Given the description of an element on the screen output the (x, y) to click on. 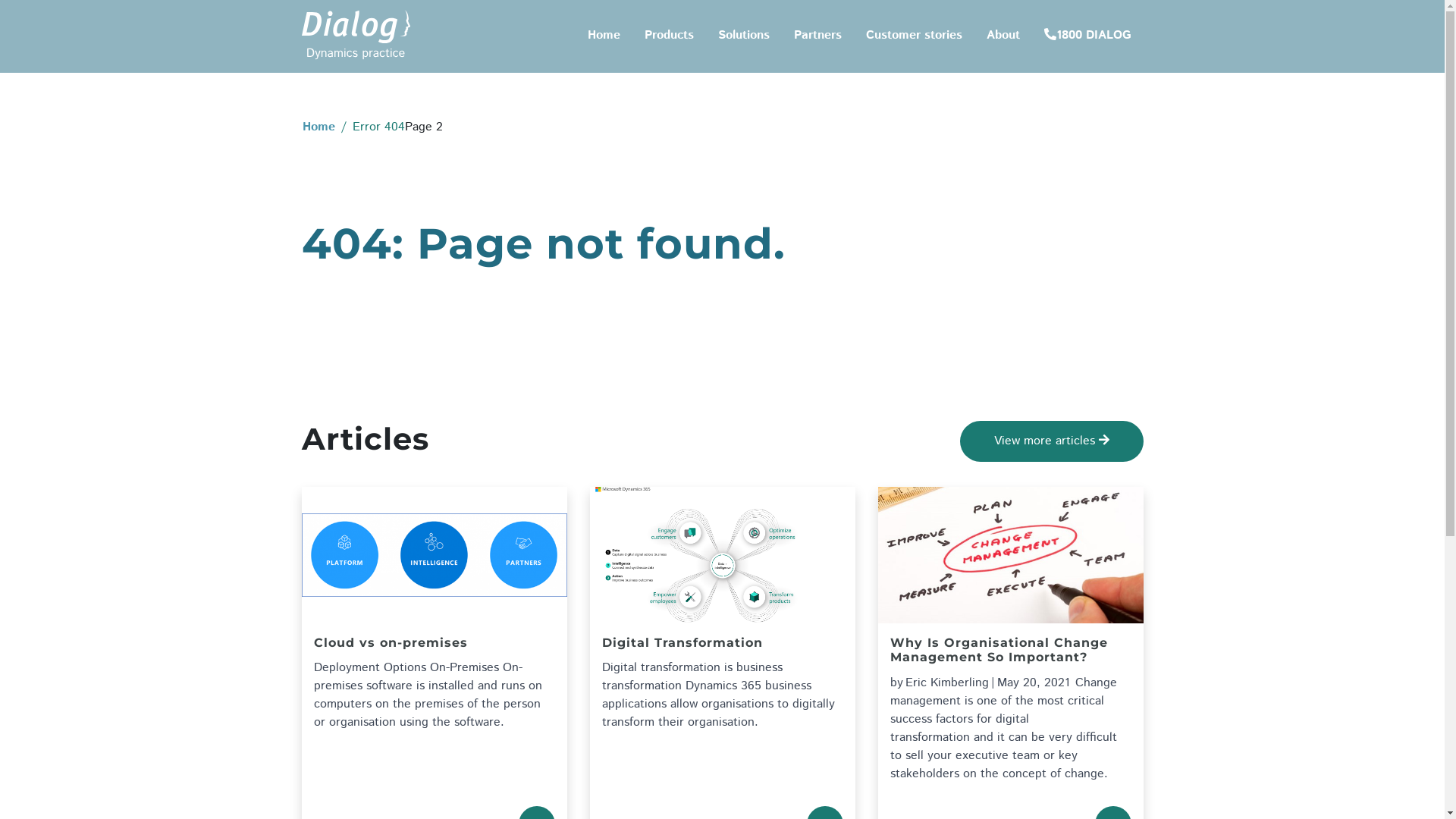
Customer stories Element type: text (913, 36)
Partners Element type: text (817, 36)
Why Is Organisational Change Management So Important? Element type: text (1010, 654)
Digital Transformation Element type: text (722, 646)
Solutions Element type: text (743, 36)
Cloud vs on-premises Element type: text (434, 646)
About Element type: text (1002, 36)
Products Element type: text (668, 36)
Home Element type: text (602, 36)
1800 DIALOG Element type: text (1086, 36)
Home Element type: text (317, 127)
View more articles Element type: text (1051, 440)
